Given the description of an element on the screen output the (x, y) to click on. 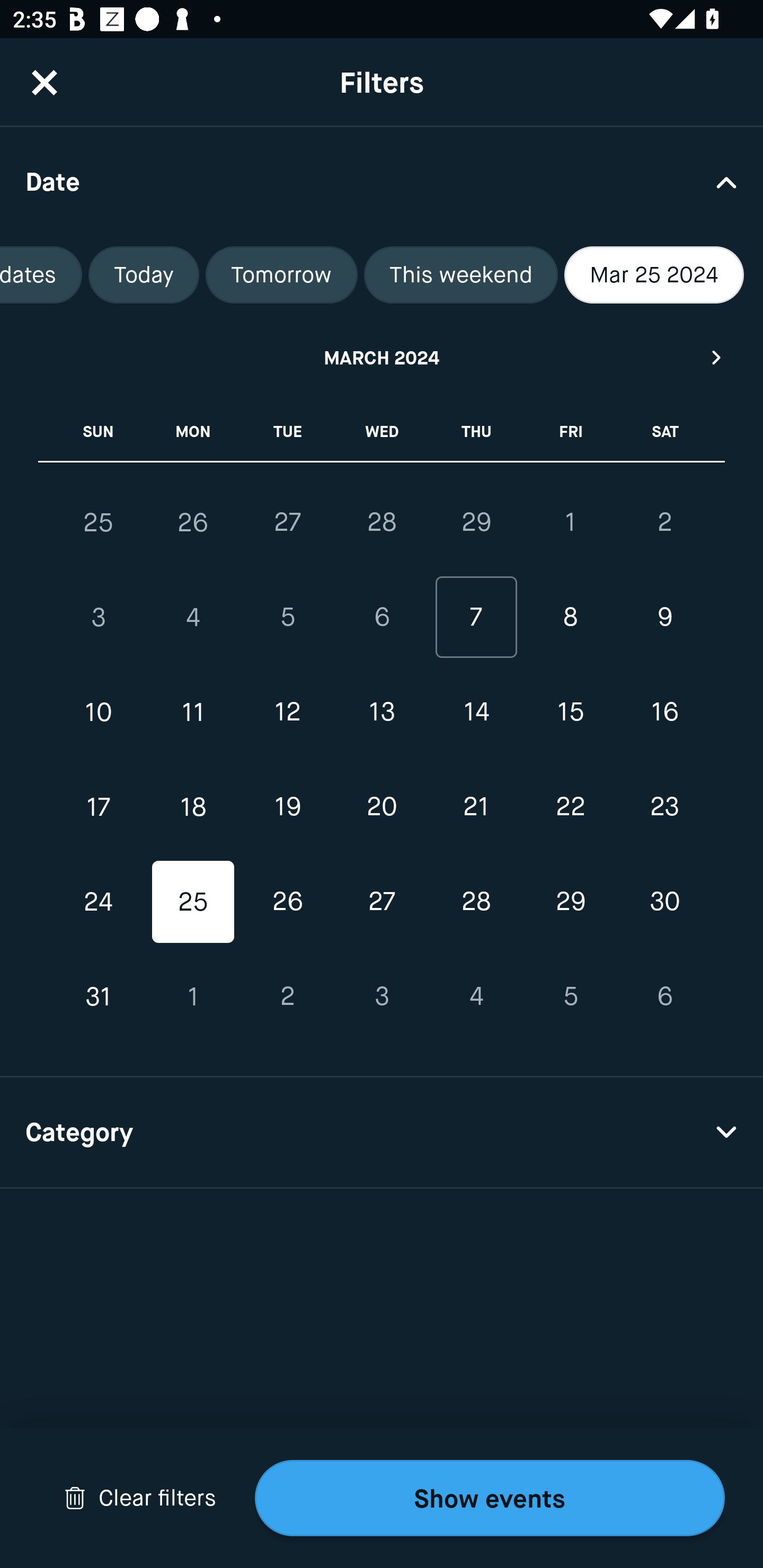
CloseButton (44, 82)
Date Drop Down Arrow (381, 181)
Today (143, 274)
Tomorrow (281, 274)
This weekend (460, 274)
Mar 25 2024 (653, 274)
Next (717, 357)
25 (98, 522)
26 (192, 522)
27 (287, 522)
28 (381, 522)
29 (475, 522)
1 (570, 522)
2 (664, 522)
3 (98, 617)
4 (192, 617)
5 (287, 617)
6 (381, 617)
7 (475, 617)
8 (570, 617)
9 (664, 617)
10 (98, 711)
11 (192, 711)
12 (287, 711)
13 (381, 711)
14 (475, 711)
15 (570, 711)
16 (664, 711)
17 (98, 806)
18 (192, 806)
19 (287, 806)
20 (381, 806)
21 (475, 806)
22 (570, 806)
23 (664, 806)
24 (98, 901)
25 (192, 901)
26 (287, 901)
27 (381, 901)
28 (475, 901)
29 (570, 901)
30 (664, 901)
31 (98, 996)
1 (192, 996)
2 (287, 996)
3 (381, 996)
4 (475, 996)
5 (570, 996)
6 (664, 996)
Category Drop Down Arrow (381, 1132)
Drop Down Arrow Clear filters (139, 1497)
Show events (489, 1497)
